Given the description of an element on the screen output the (x, y) to click on. 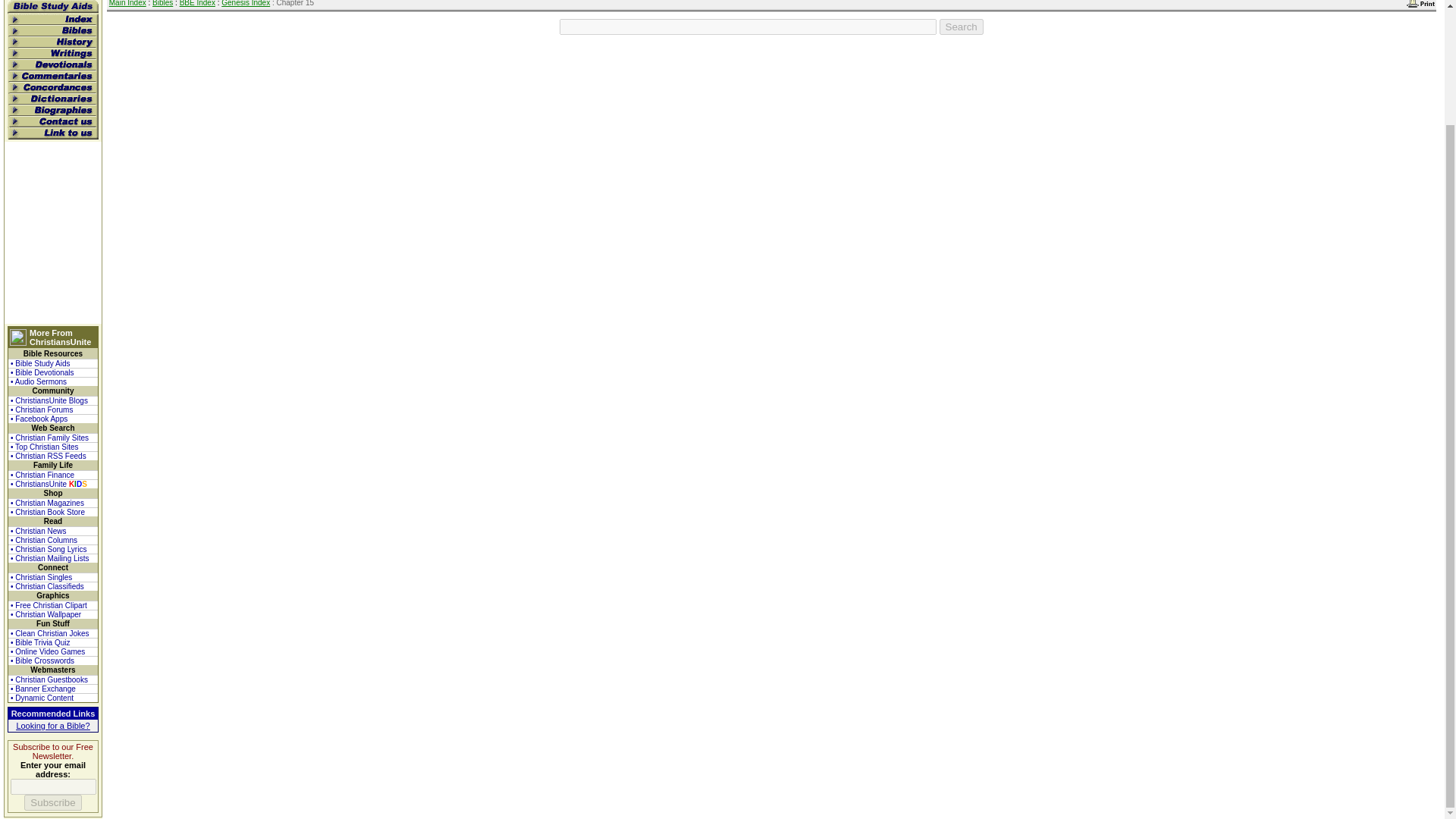
Search (961, 26)
Looking for a Bible? (52, 725)
Bibles (162, 3)
Genesis Index (245, 3)
Main Index (128, 3)
BBE Index (197, 3)
Subscribe (52, 802)
Search (961, 26)
Subscribe (52, 802)
